Given the description of an element on the screen output the (x, y) to click on. 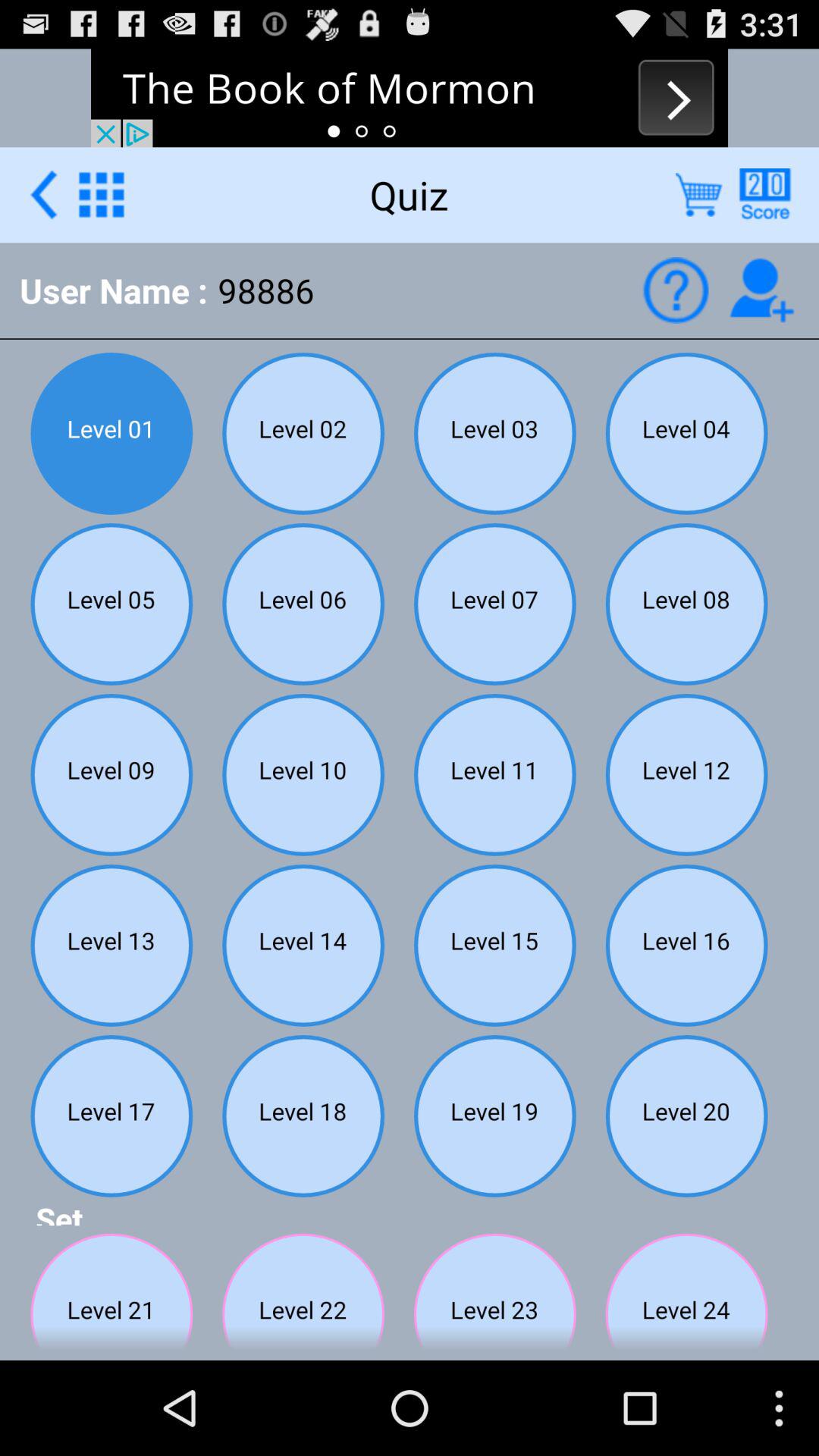
add a person (761, 290)
